Given the description of an element on the screen output the (x, y) to click on. 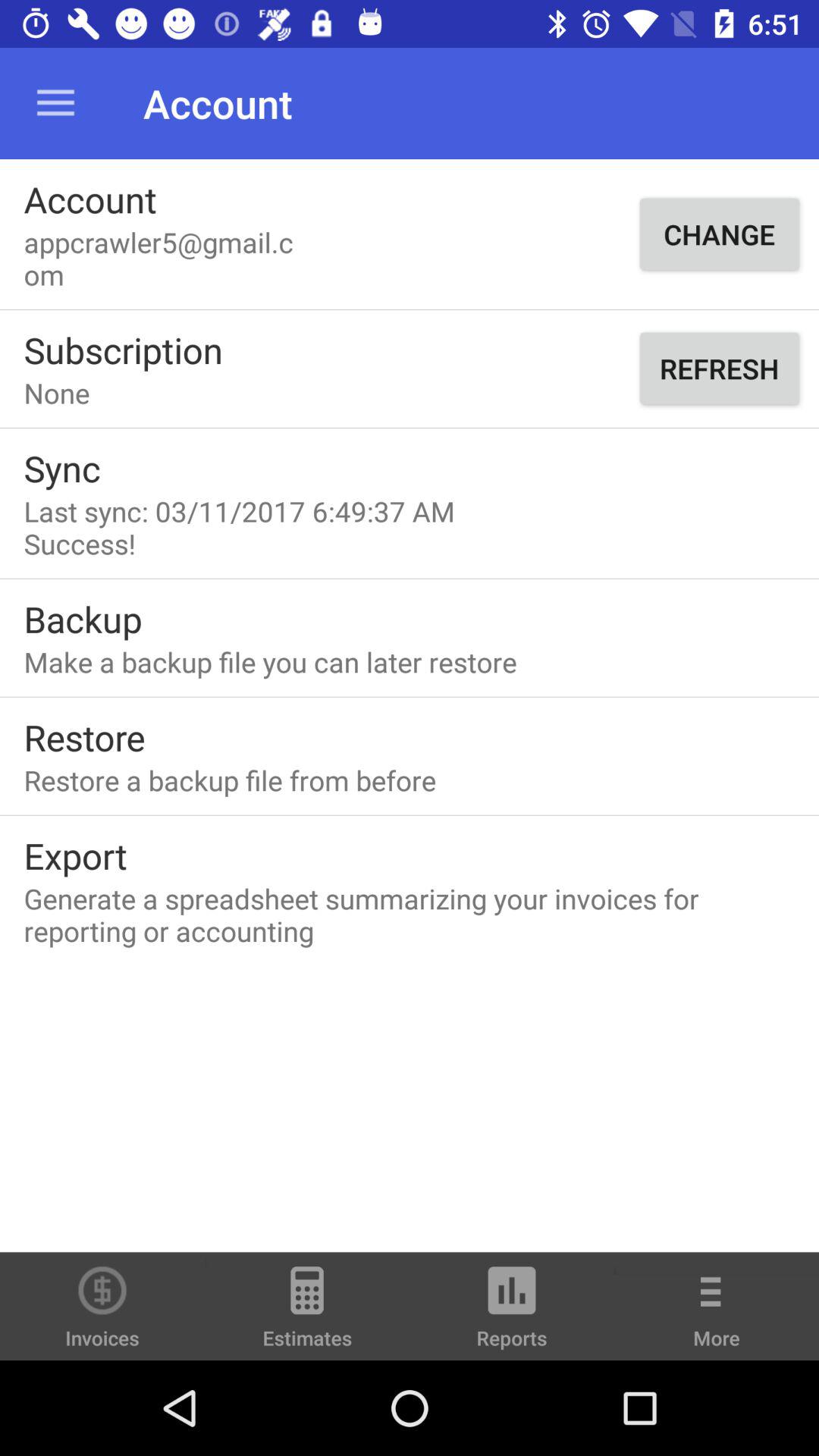
turn on the item to the right of appcrawler5@gmail.com (719, 234)
